Given the description of an element on the screen output the (x, y) to click on. 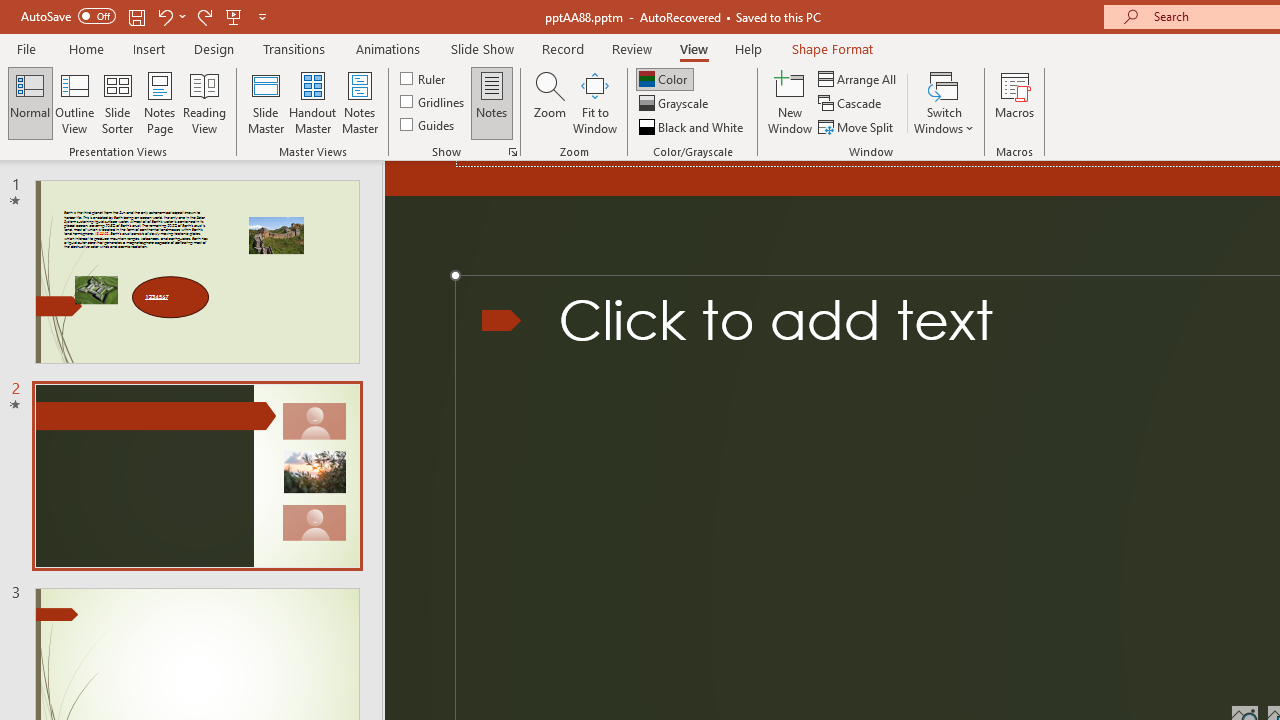
Slide Master (265, 102)
Color (664, 78)
Switch Windows (943, 102)
Notes Master (360, 102)
Black and White (693, 126)
